Given the description of an element on the screen output the (x, y) to click on. 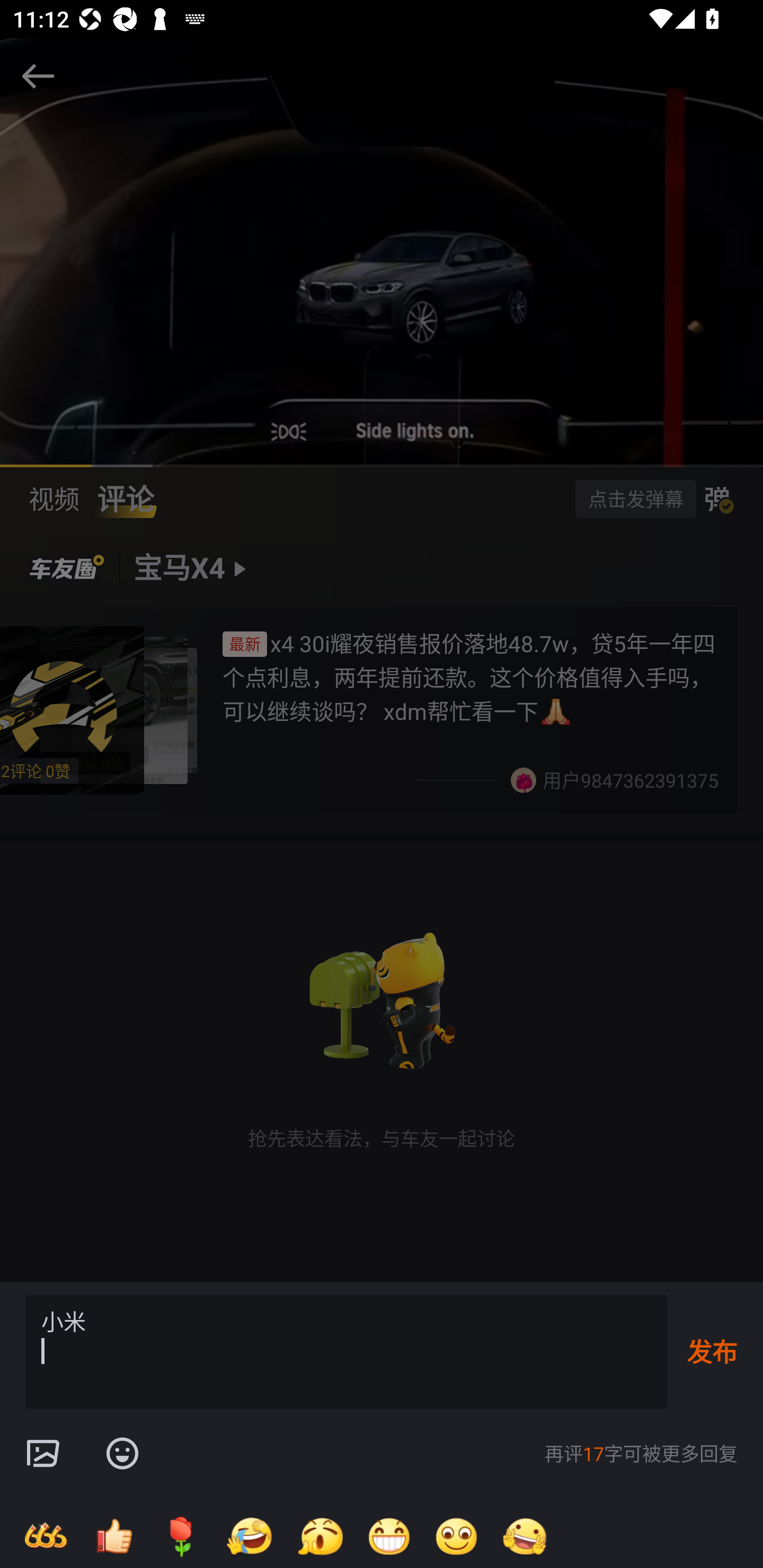
小米
 (346, 1352)
发布 (711, 1351)
 (42, 1453)
 (122, 1453)
再评17字可被更多回复 (640, 1453)
[666] (45, 1535)
[赞] (112, 1535)
[玫瑰] (180, 1535)
[我想静静] (249, 1535)
[小鼓掌] (320, 1535)
[呲牙] (389, 1535)
[微笑] (456, 1535)
[耶] (524, 1535)
